Given the description of an element on the screen output the (x, y) to click on. 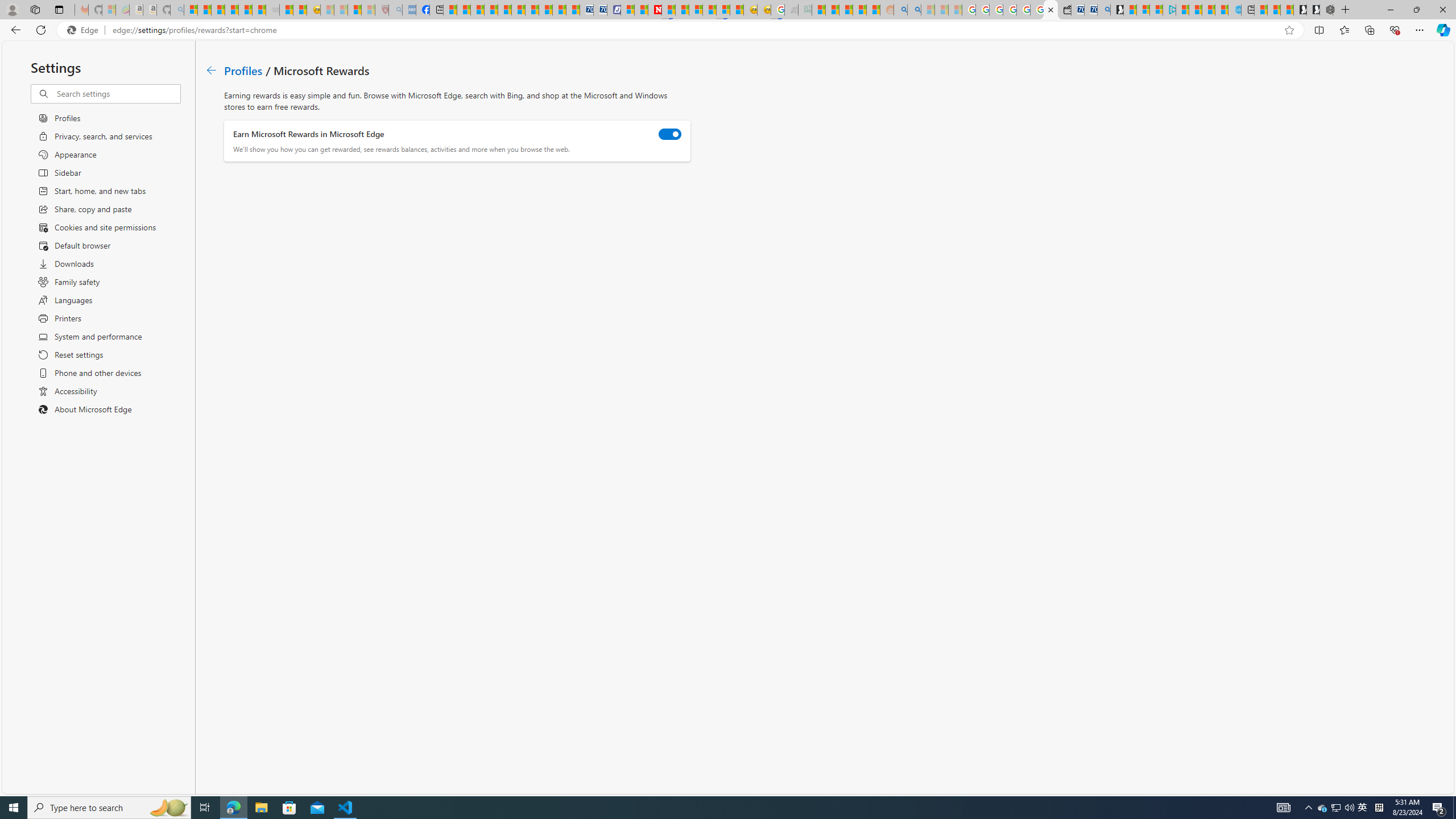
Class: c01179 (210, 70)
Latest Politics News & Archive | Newsweek.com (654, 9)
